Given the description of an element on the screen output the (x, y) to click on. 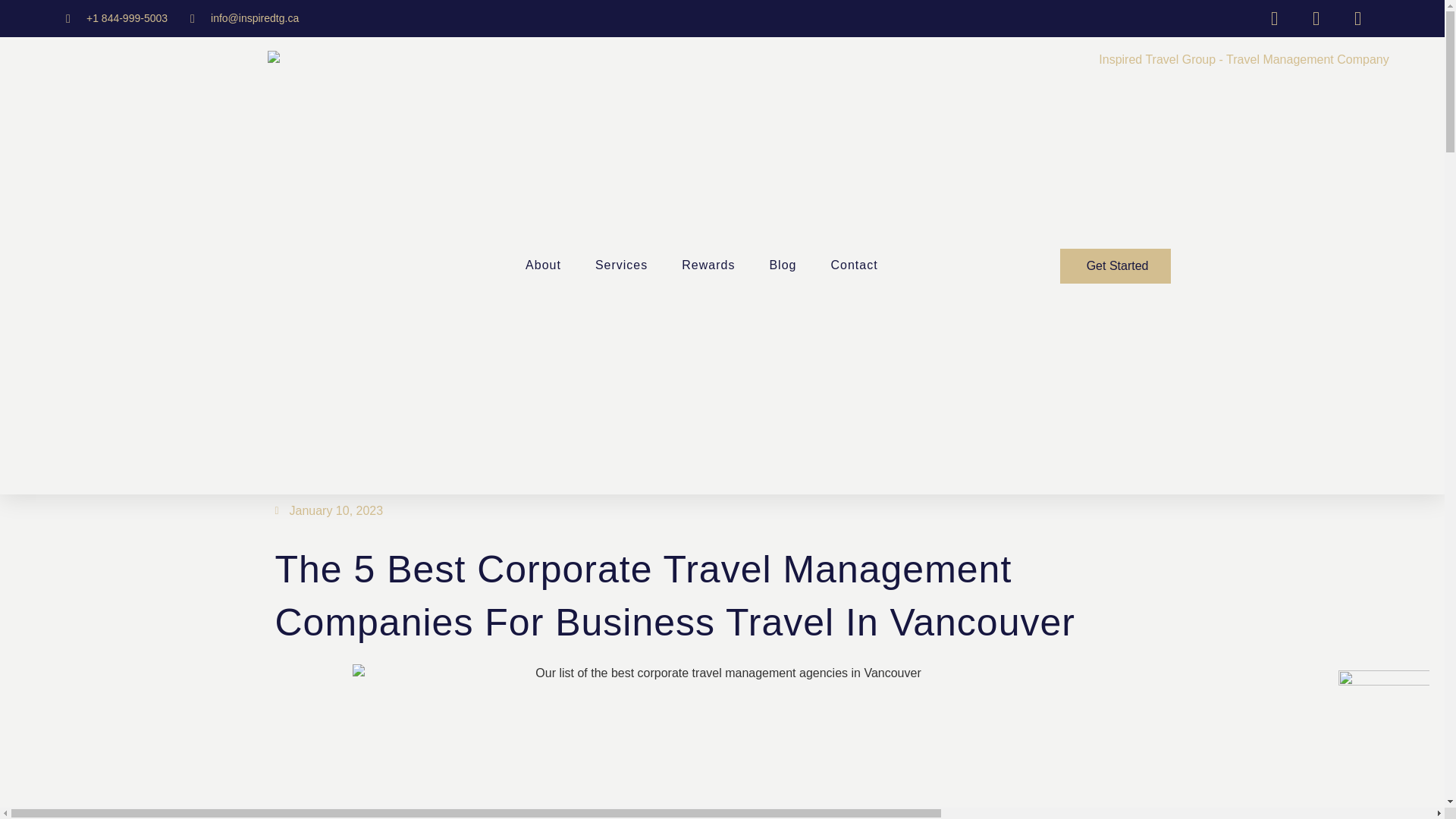
January 10, 2023 (328, 511)
best-corporate-travel-management-companies-in-vancouver (722, 741)
Contact (853, 265)
Get Started (1115, 265)
Contact (853, 265)
Rewards (708, 265)
About (542, 265)
Services (621, 265)
Rewards (708, 265)
About (542, 265)
